Given the description of an element on the screen output the (x, y) to click on. 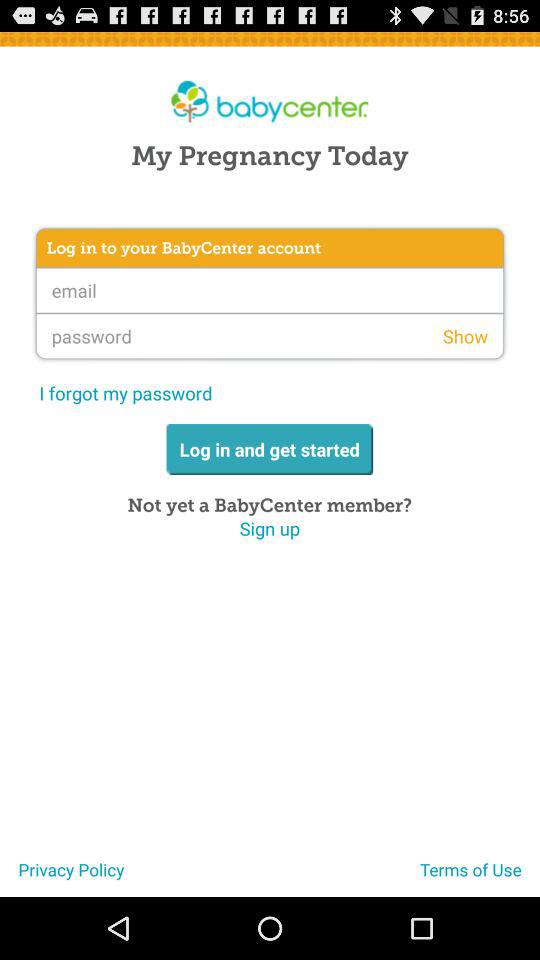
flip until i forgot my app (125, 392)
